Given the description of an element on the screen output the (x, y) to click on. 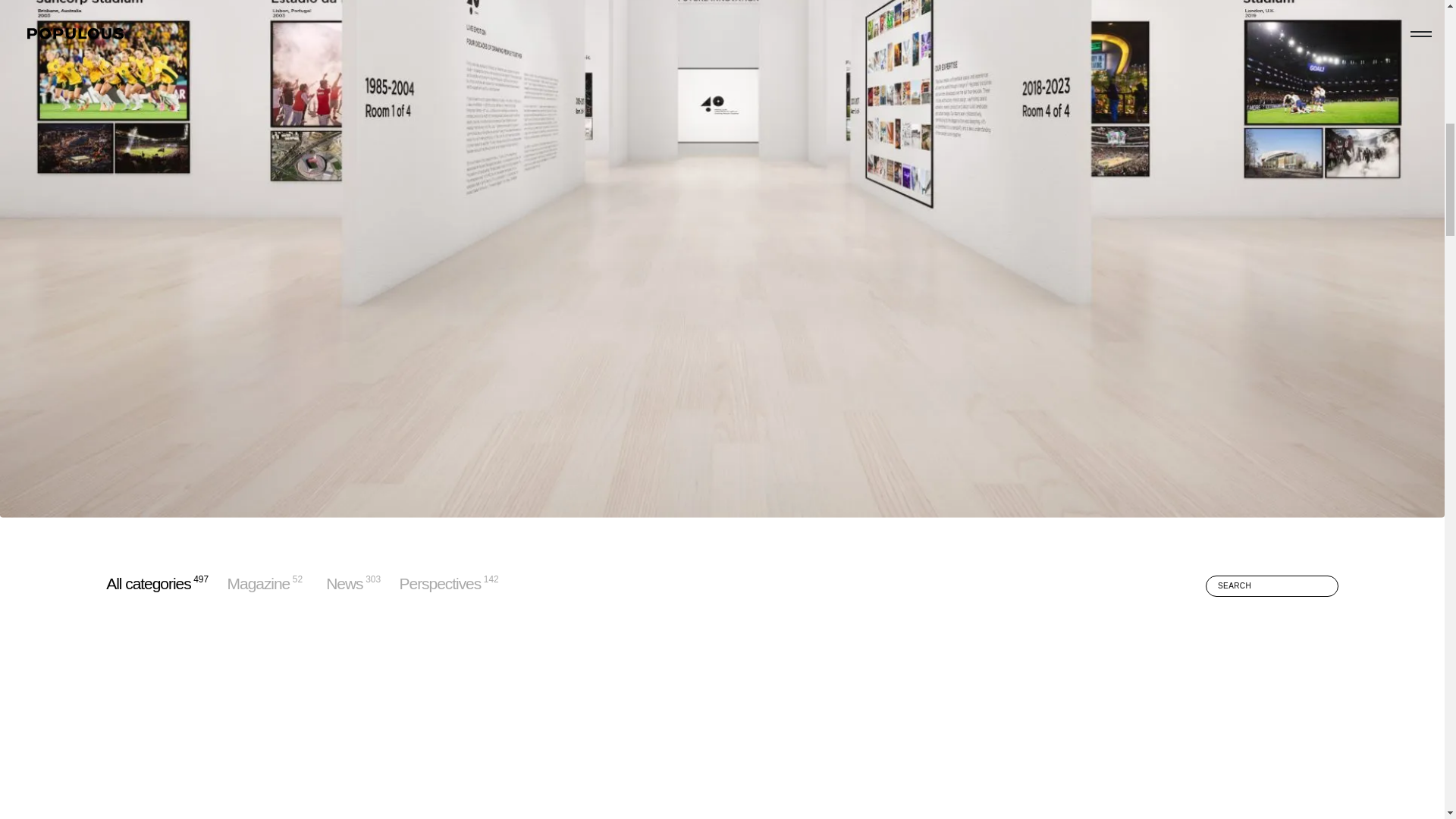
SEARCH (1271, 586)
